Given the description of an element on the screen output the (x, y) to click on. 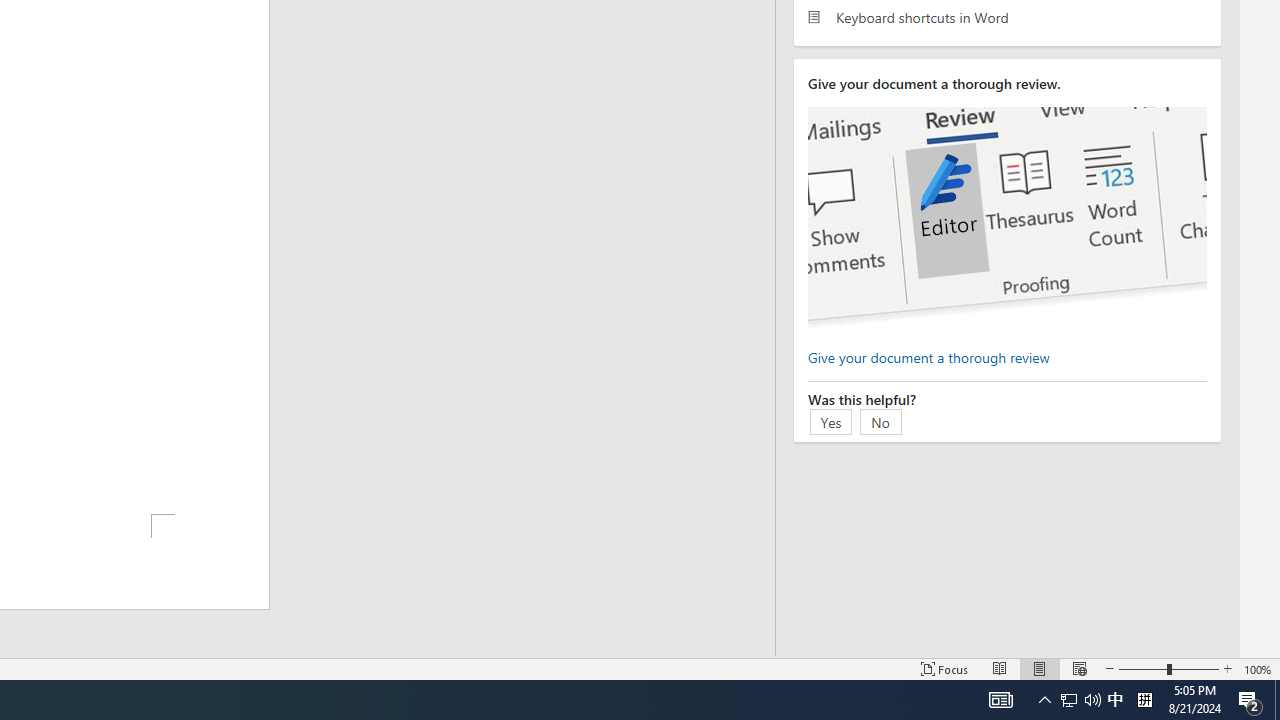
Yes (831, 421)
No (881, 421)
Give your document a thorough review (928, 356)
Keyboard shortcuts in Word (1007, 16)
Zoom 100% (1258, 668)
editor ui screenshot (1007, 218)
